Given the description of an element on the screen output the (x, y) to click on. 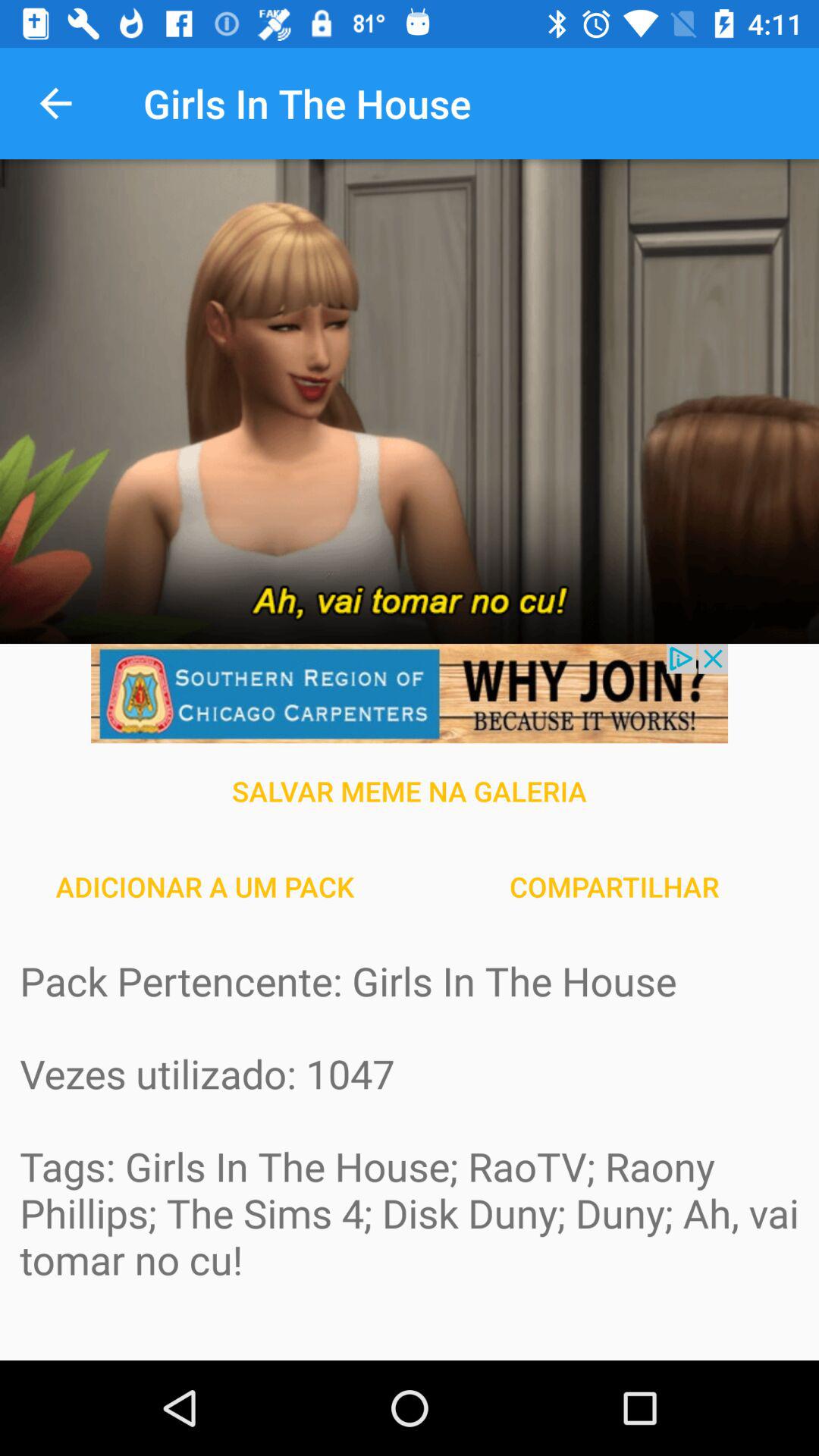
advertisement banner (409, 693)
